Given the description of an element on the screen output the (x, y) to click on. 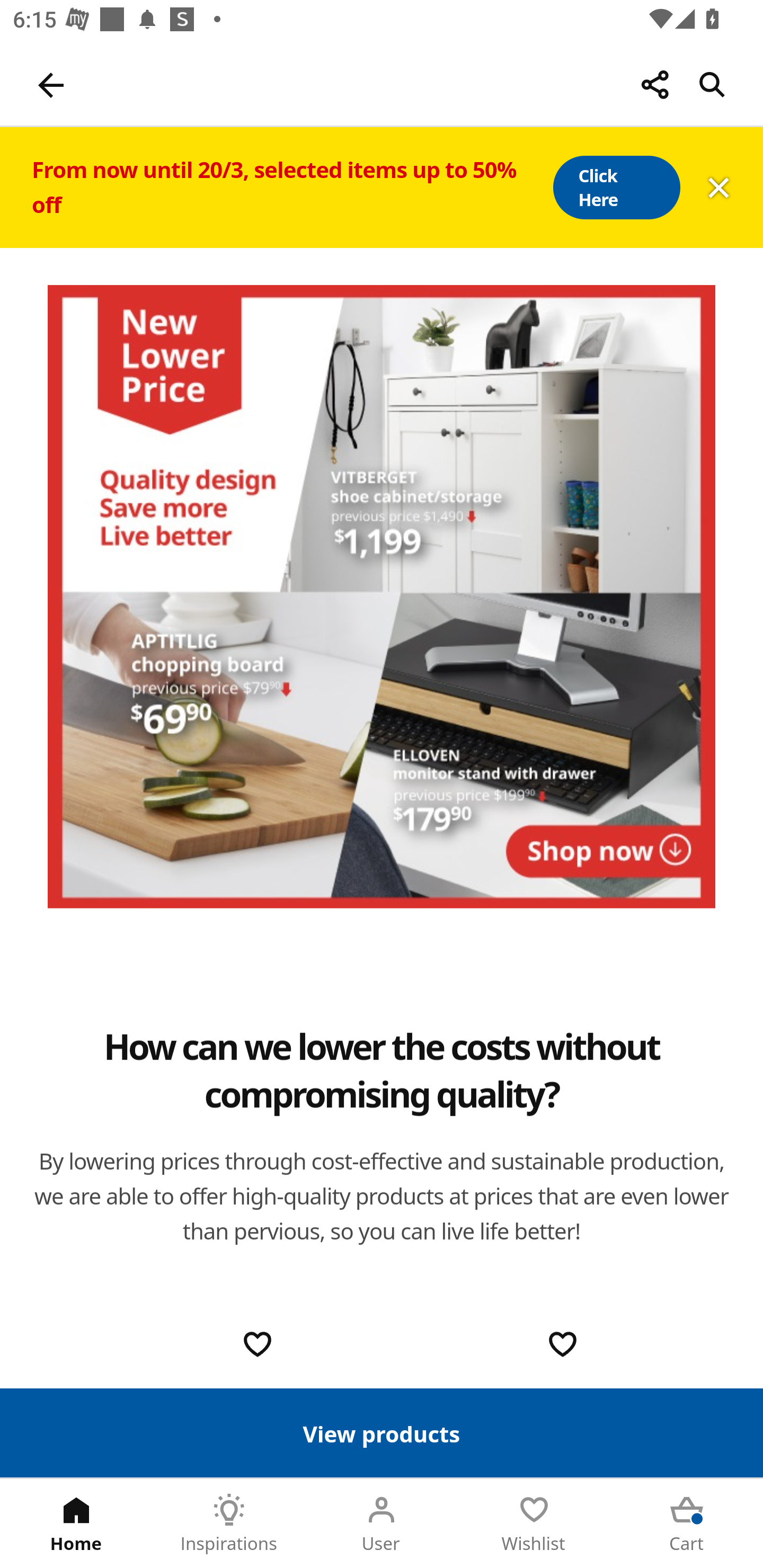
Click Here (615, 187)
new-lower-price#shop-now (381, 596)
View products (381, 1432)
Home
Tab 1 of 5 (76, 1522)
Inspirations
Tab 2 of 5 (228, 1522)
User
Tab 3 of 5 (381, 1522)
Wishlist
Tab 4 of 5 (533, 1522)
Cart
Tab 5 of 5 (686, 1522)
